Given the description of an element on the screen output the (x, y) to click on. 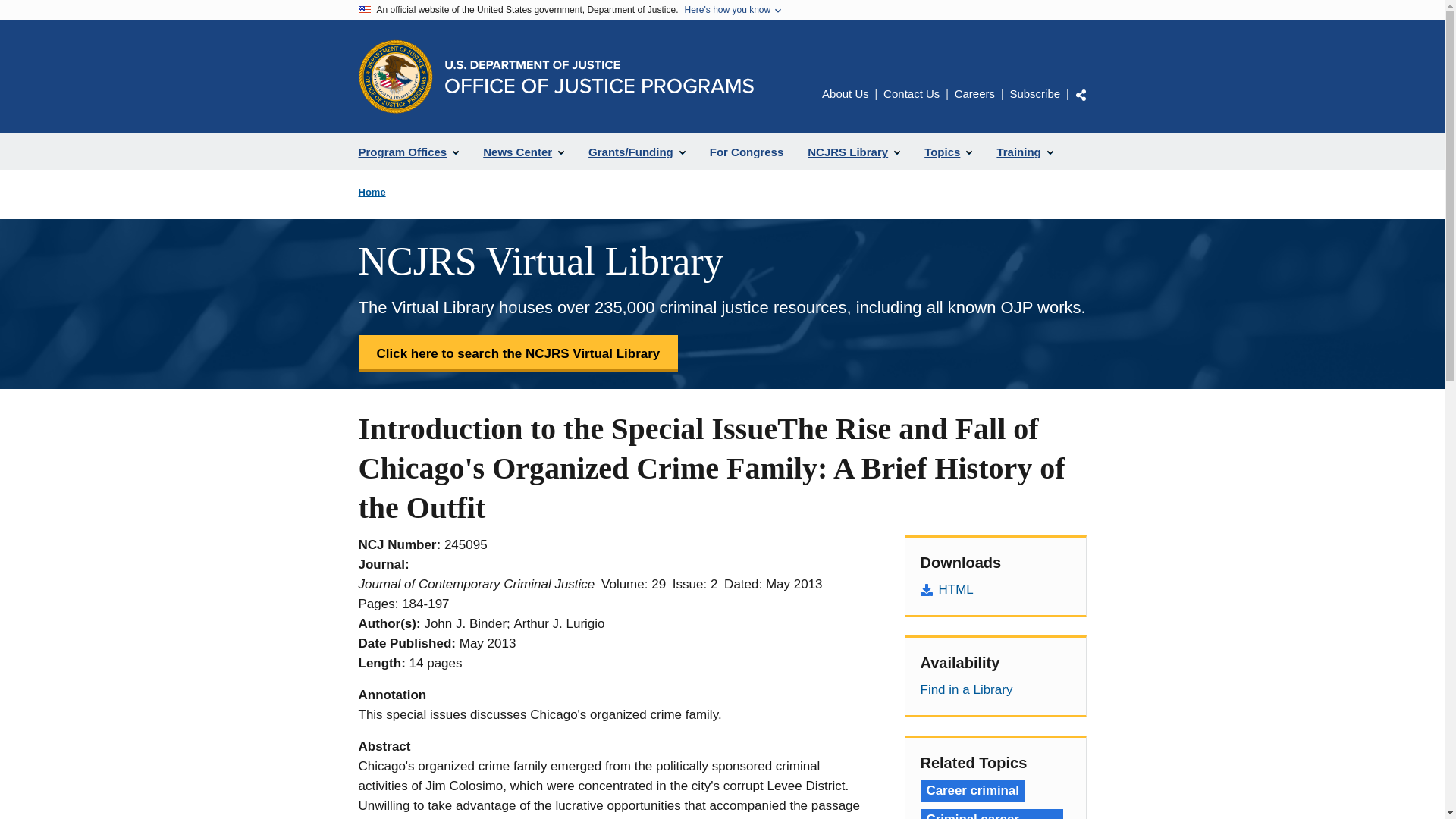
Subscribe (1034, 93)
Career criminal (972, 790)
Home (598, 76)
HTML (995, 589)
Choose a social sharing platform (1080, 94)
Program Offices (408, 151)
Home (371, 192)
Here's how you know (727, 9)
Careers (974, 93)
